Given the description of an element on the screen output the (x, y) to click on. 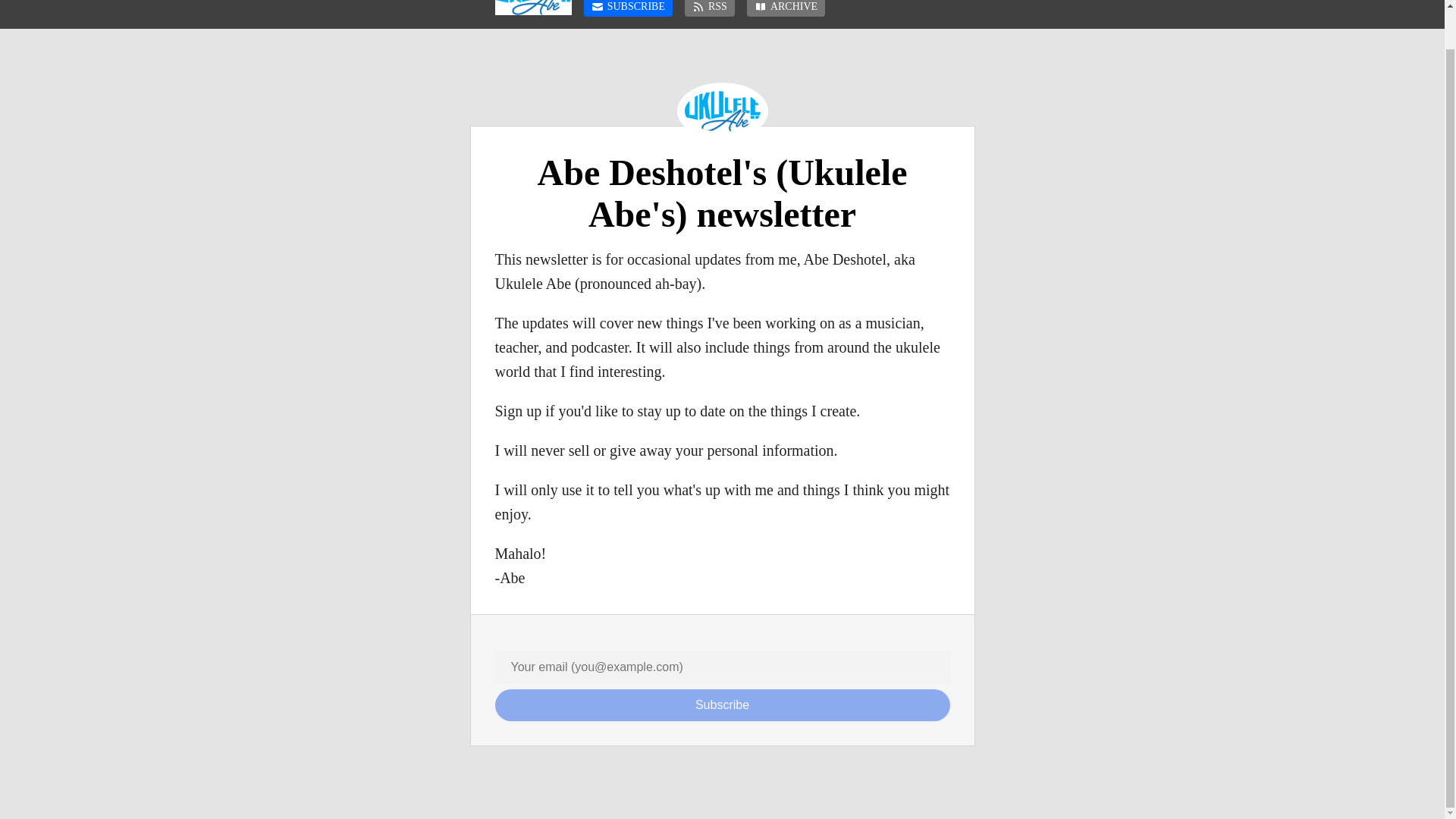
RSS (709, 8)
SUBSCRIBE (627, 8)
ARCHIVE (785, 8)
Subscribe (722, 705)
